Given the description of an element on the screen output the (x, y) to click on. 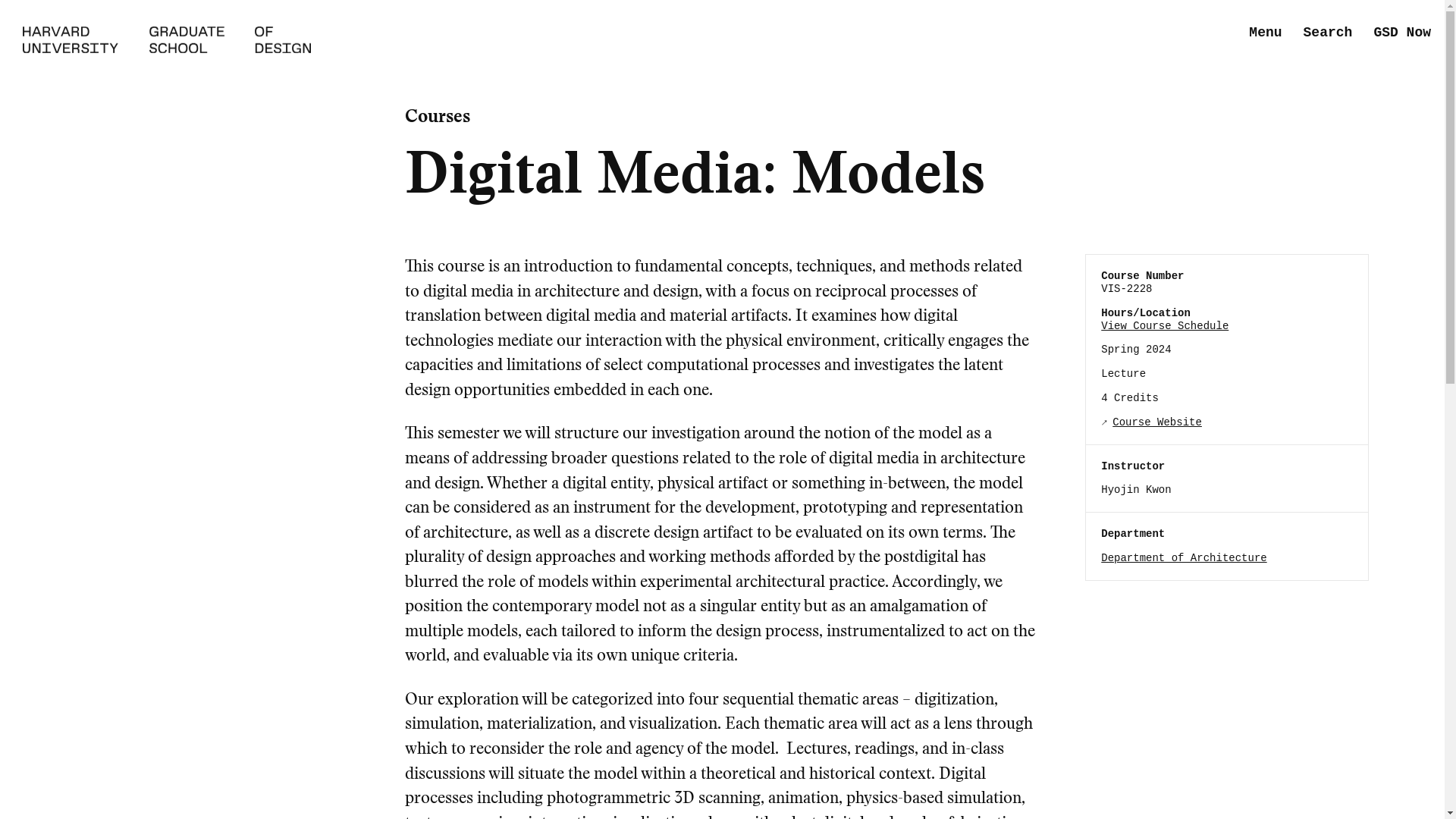
Menu (1265, 32)
Search (1327, 32)
GSD Now (1402, 32)
